Given the description of an element on the screen output the (x, y) to click on. 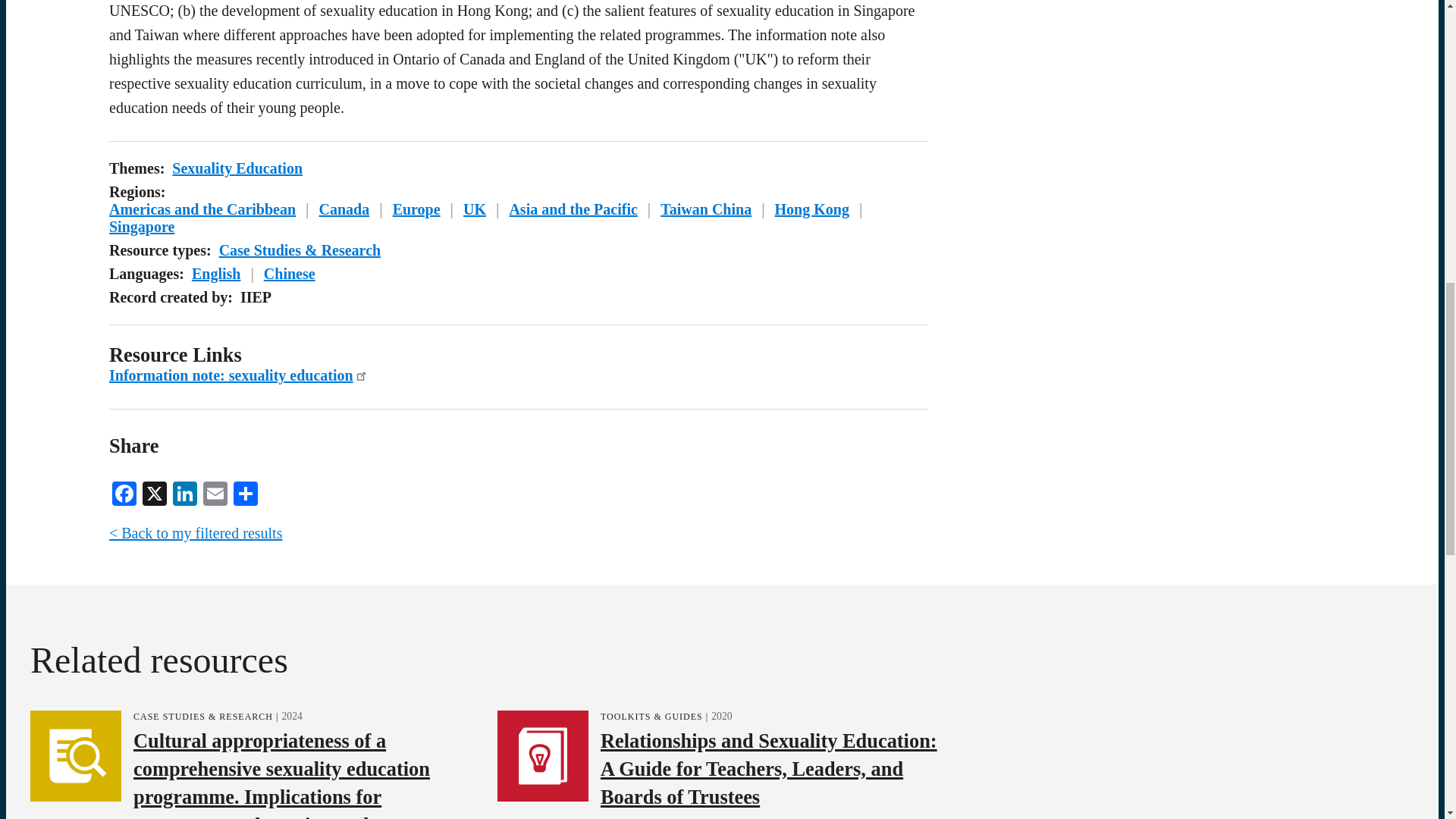
Chinese (289, 273)
Facebook (124, 492)
Singapore (141, 226)
X (154, 492)
English (216, 273)
Americas and the Caribbean (202, 208)
Canada (343, 208)
Europe (417, 208)
Hong Kong (811, 208)
Sexuality Education (236, 167)
Taiwan China (706, 208)
LinkedIn (185, 492)
UK (474, 208)
Asia and the Pacific (572, 208)
